Given the description of an element on the screen output the (x, y) to click on. 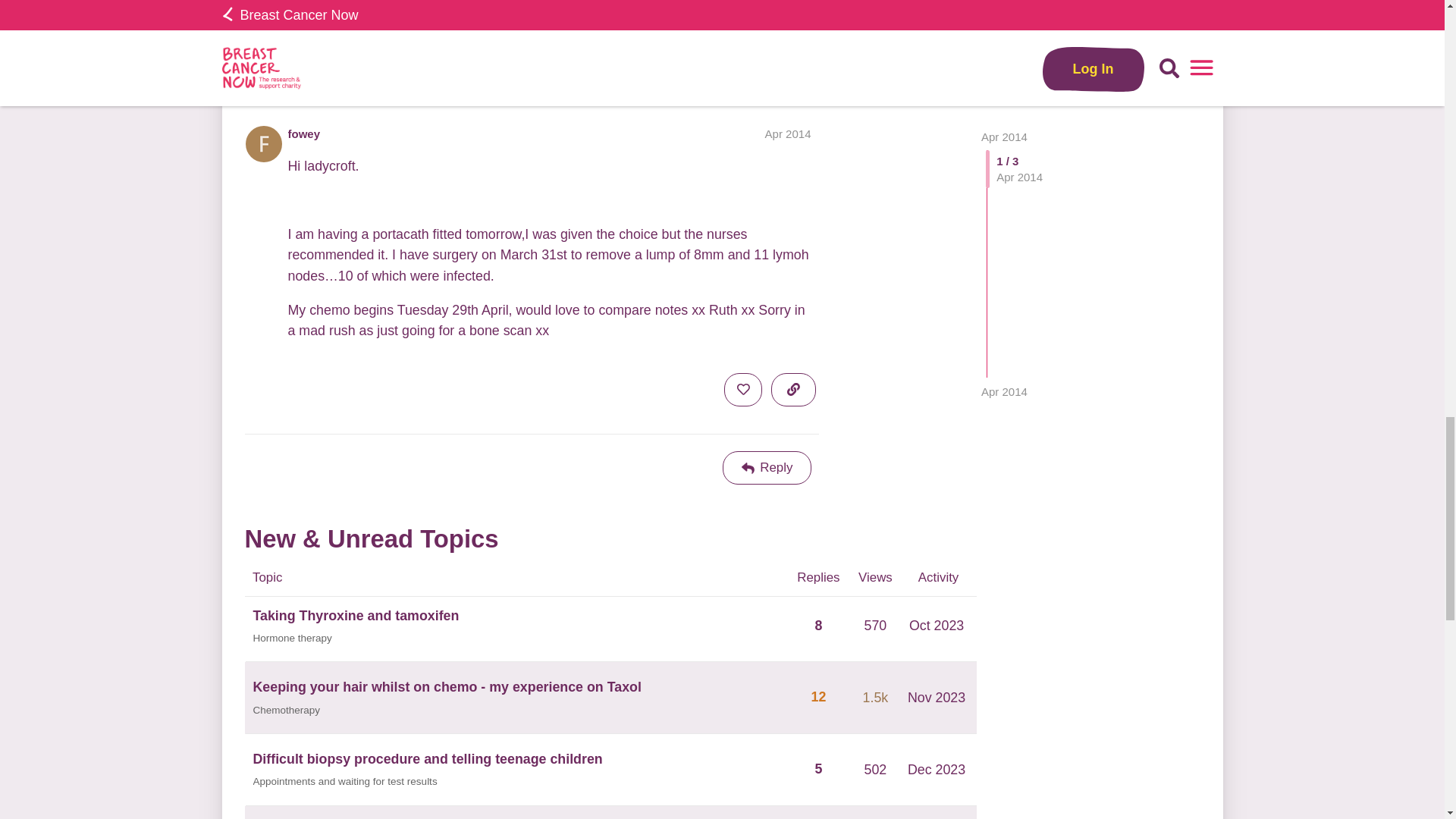
Reply (767, 467)
fowey (304, 133)
Oct 2023 (936, 625)
Taking Thyroxine and tamoxifen (356, 616)
Hormone therapy (292, 638)
Apr 2014 (787, 133)
